Given the description of an element on the screen output the (x, y) to click on. 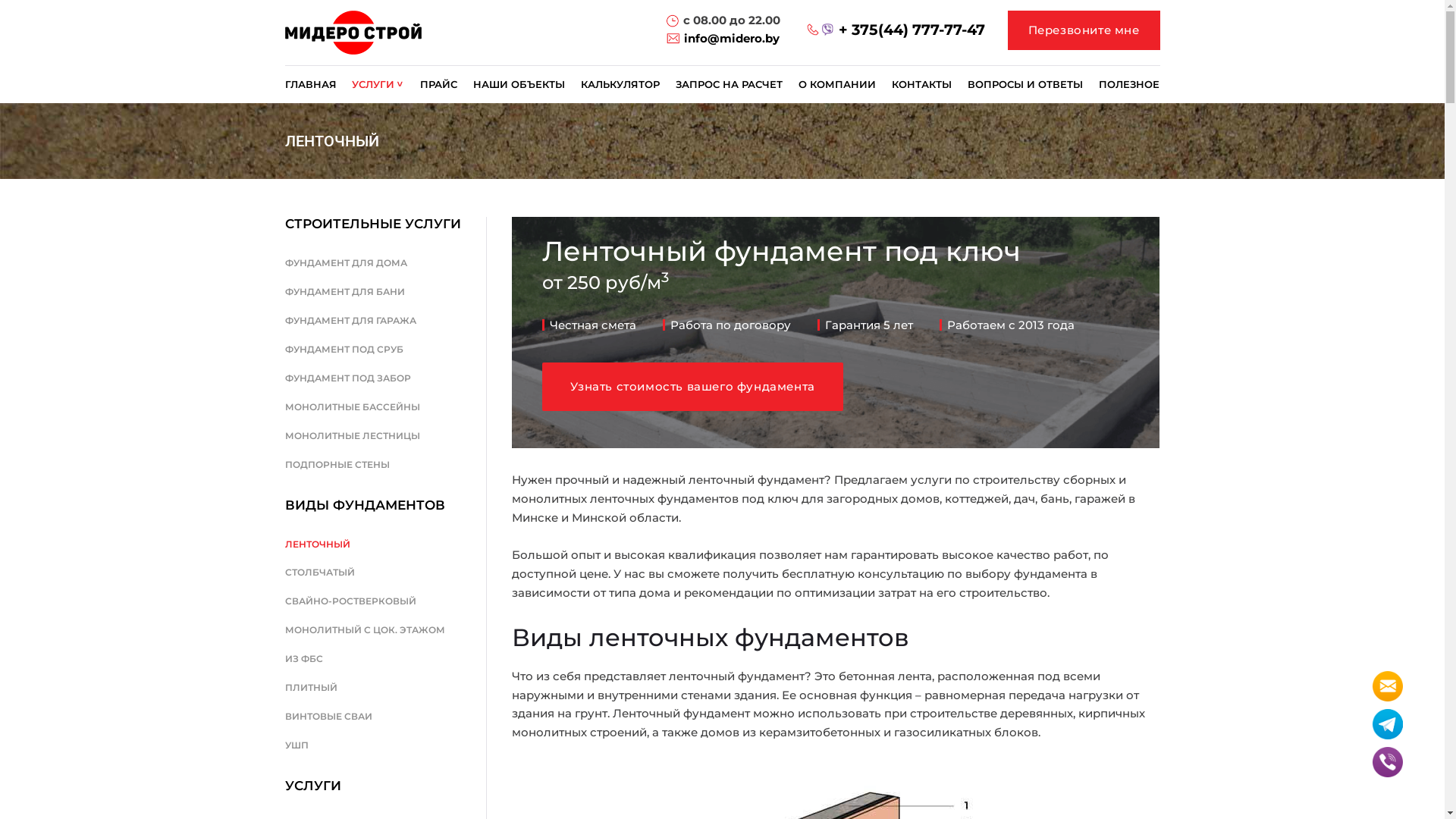
+ 375(44) 777-77-47 Element type: text (911, 29)
info@midero.by Element type: text (731, 38)
